Given the description of an element on the screen output the (x, y) to click on. 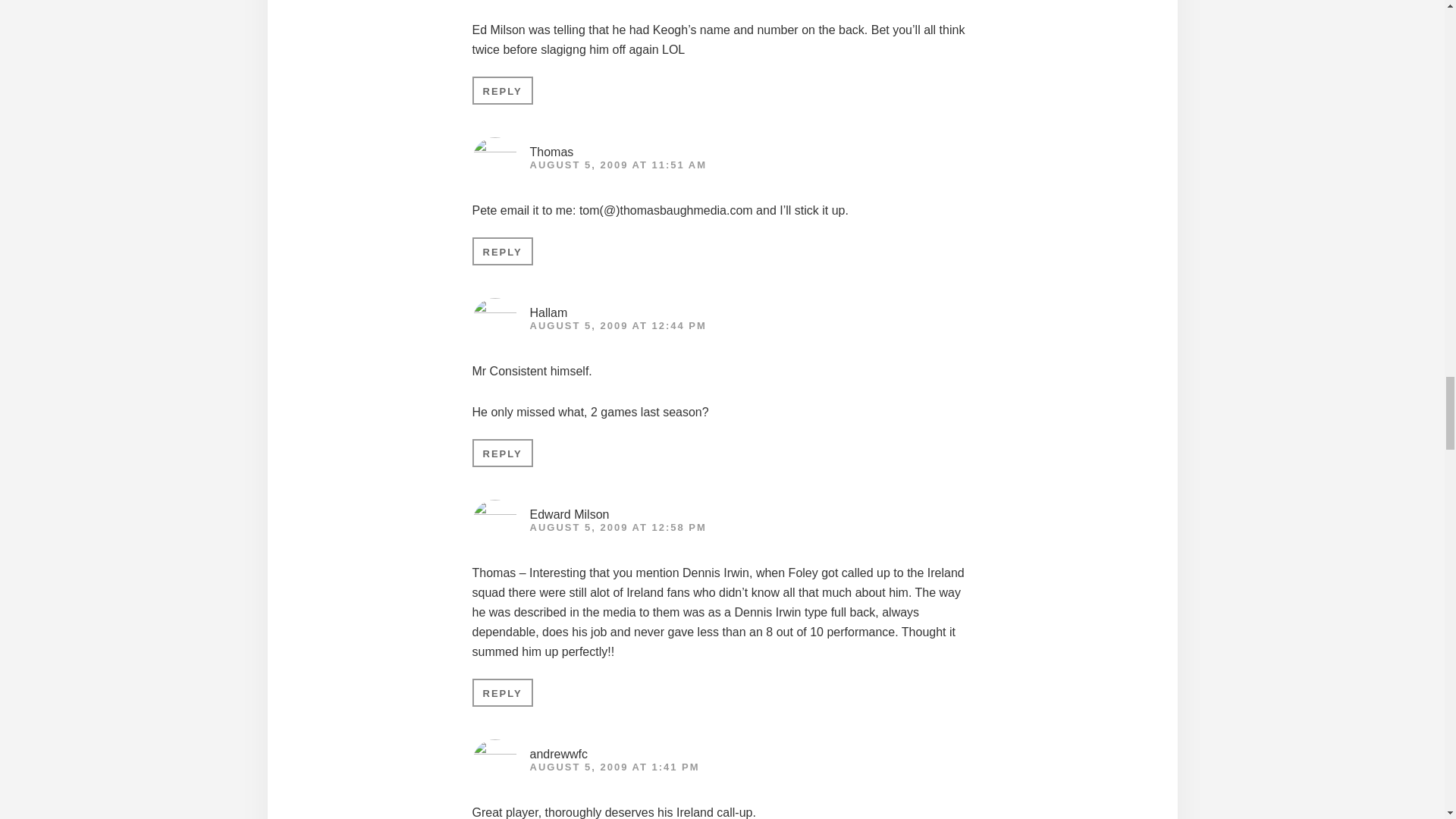
REPLY (501, 251)
REPLY (501, 452)
AUGUST 5, 2009 AT 11:51 AM (617, 164)
REPLY (501, 692)
AUGUST 5, 2009 AT 12:58 PM (617, 527)
REPLY (501, 90)
AUGUST 5, 2009 AT 12:44 PM (617, 325)
AUGUST 5, 2009 AT 1:41 PM (613, 767)
